Given the description of an element on the screen output the (x, y) to click on. 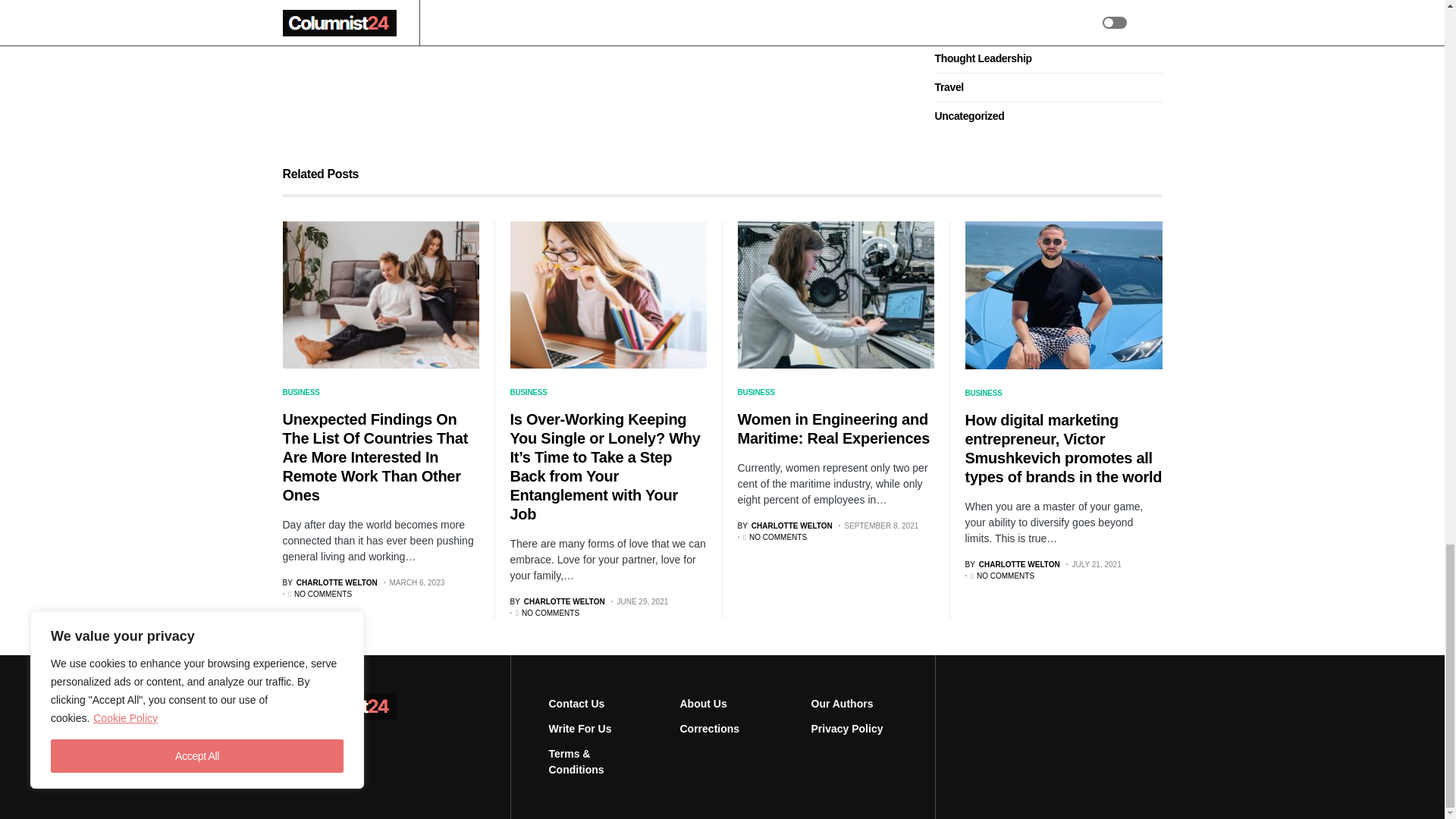
View all posts by Charlotte Welton (556, 601)
View all posts by Charlotte Welton (783, 525)
View all posts by Charlotte Welton (329, 582)
View all posts by Charlotte Welton (1011, 564)
